Given the description of an element on the screen output the (x, y) to click on. 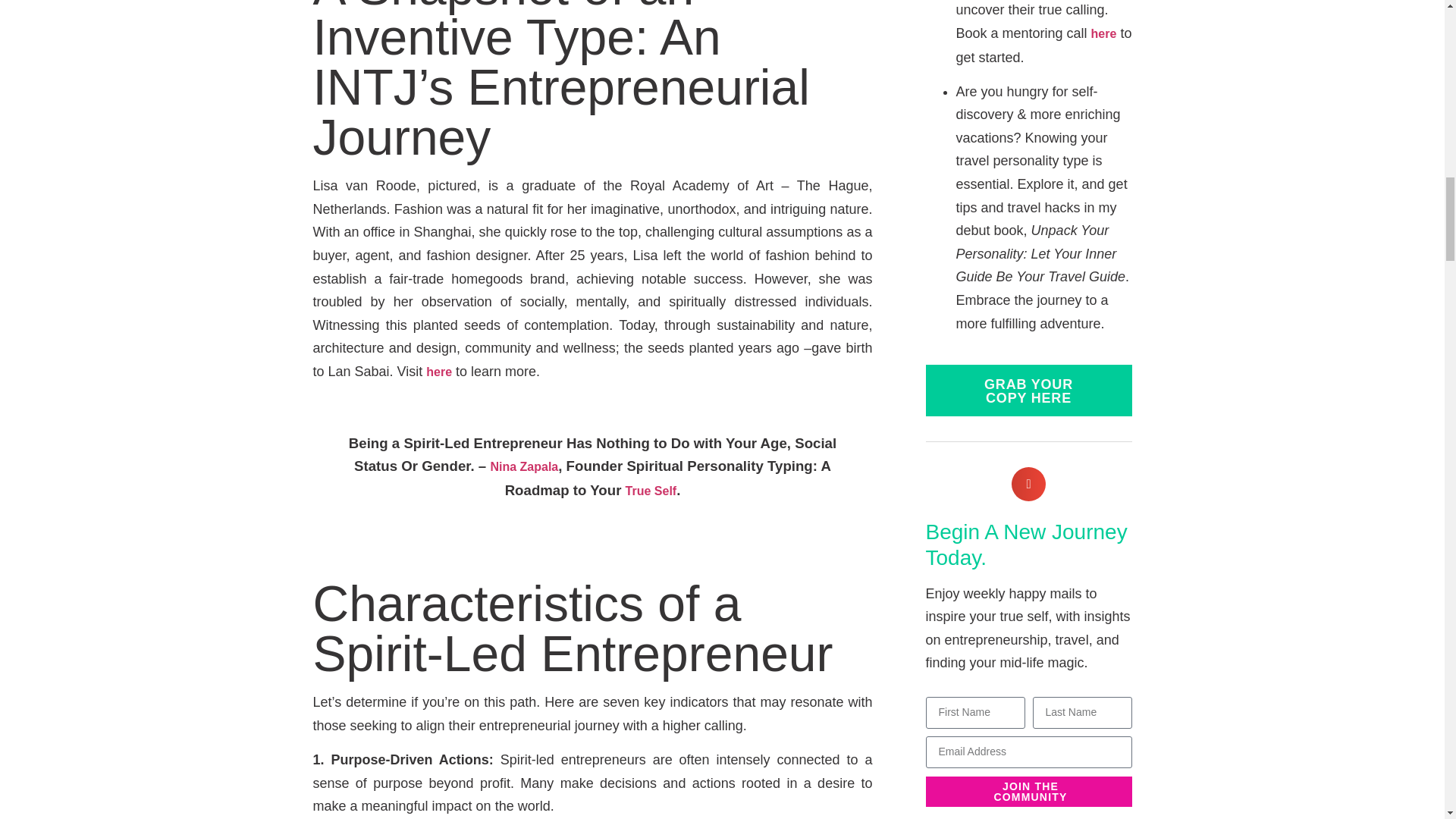
here (438, 371)
Nina Zapala (523, 466)
True Self (651, 490)
